Given the description of an element on the screen output the (x, y) to click on. 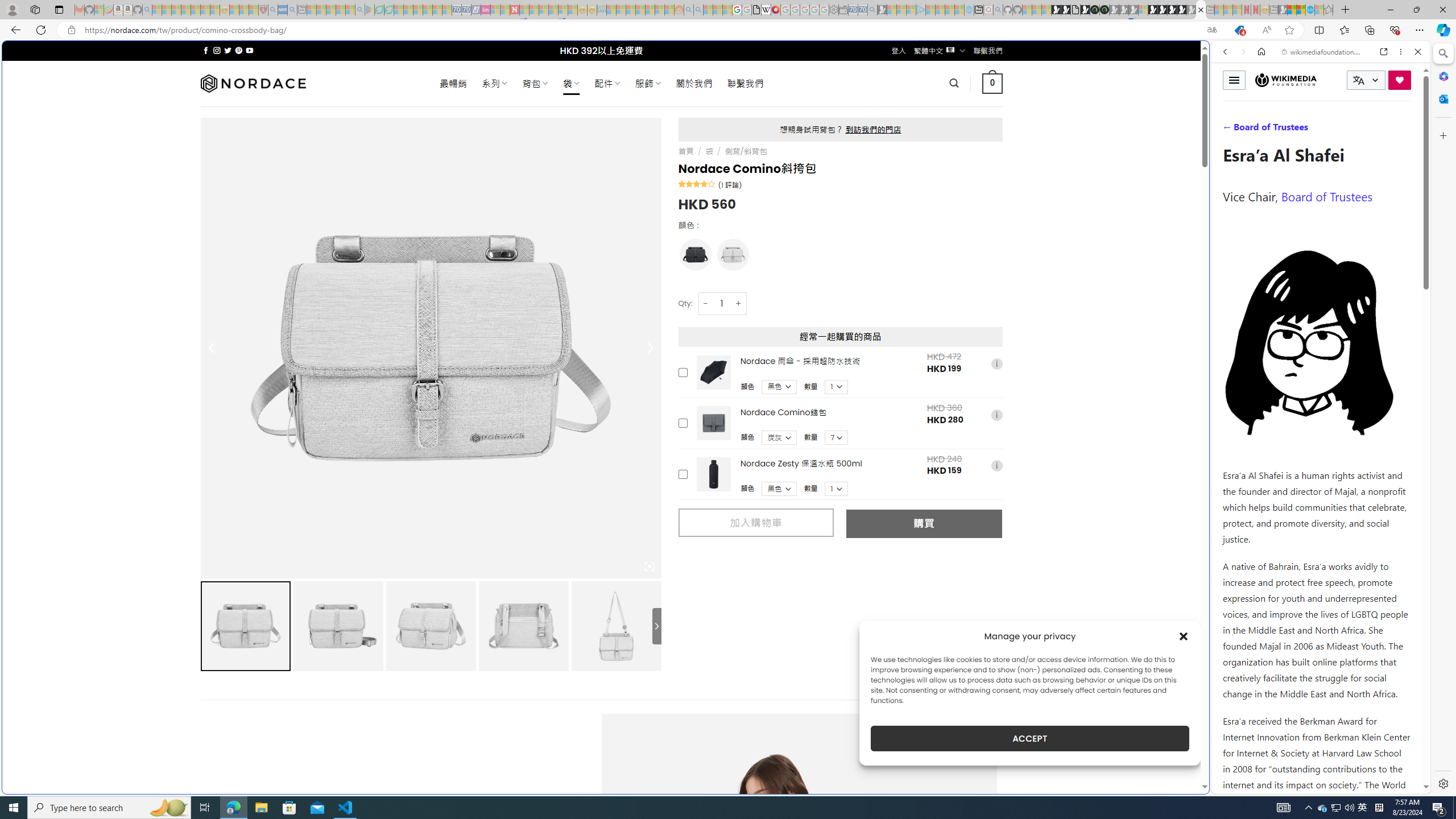
  0   (992, 83)
